Given the description of an element on the screen output the (x, y) to click on. 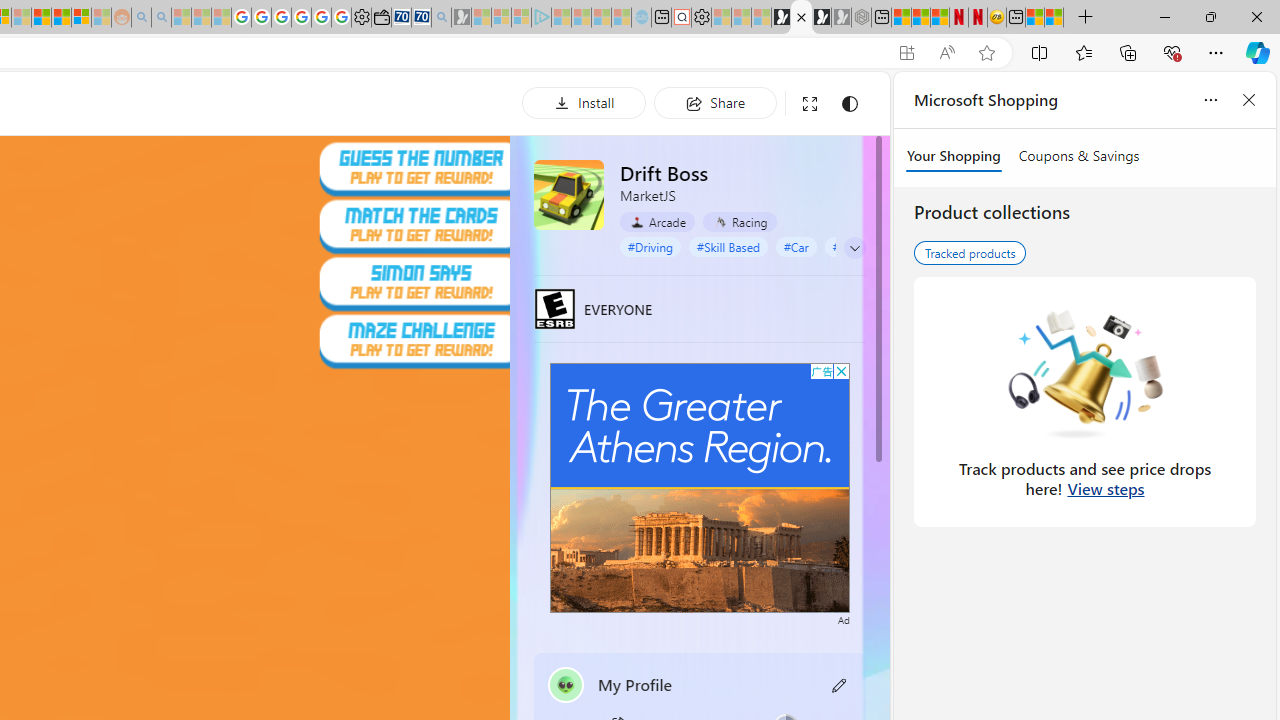
#Driving (650, 246)
Add this page to favorites (Ctrl+D) (986, 53)
Utah sues federal government - Search - Sleeping (161, 17)
Full screen (810, 103)
Expert Portfolios (41, 17)
Kinda Frugal - MSN (61, 17)
Racing (738, 222)
Microsoft Start - Sleeping (600, 17)
Close tab (801, 16)
Minimize (1164, 16)
Play Free Online Games | Games from Microsoft Start (781, 17)
Settings and more (Alt+F) (1215, 52)
